Given the description of an element on the screen output the (x, y) to click on. 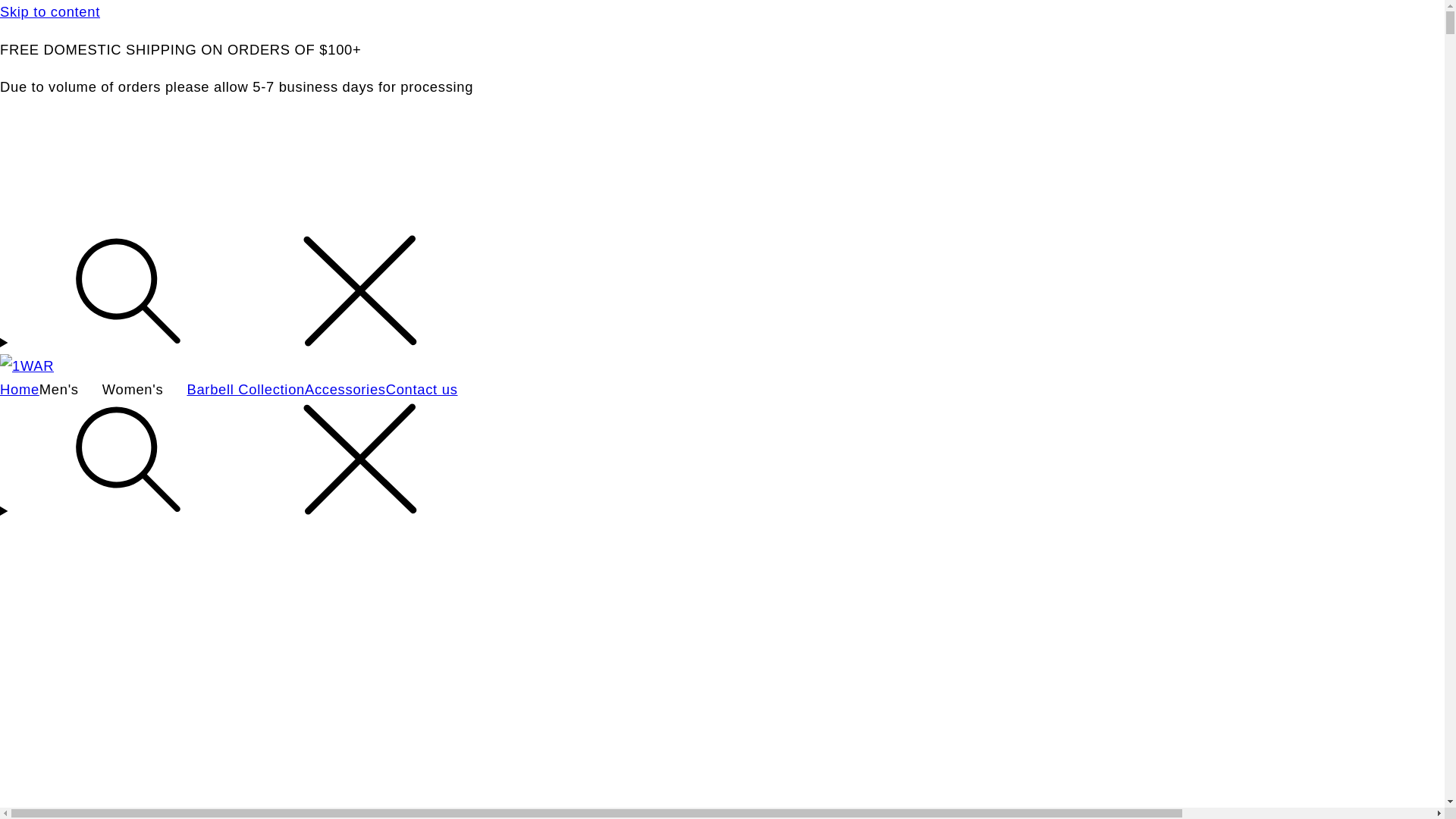
Skip to content Element type: text (722, 11)
Home Element type: text (19, 389)
Barbell Collection Element type: text (245, 389)
Accessories Element type: text (344, 389)
Contact us Element type: text (421, 389)
